Given the description of an element on the screen output the (x, y) to click on. 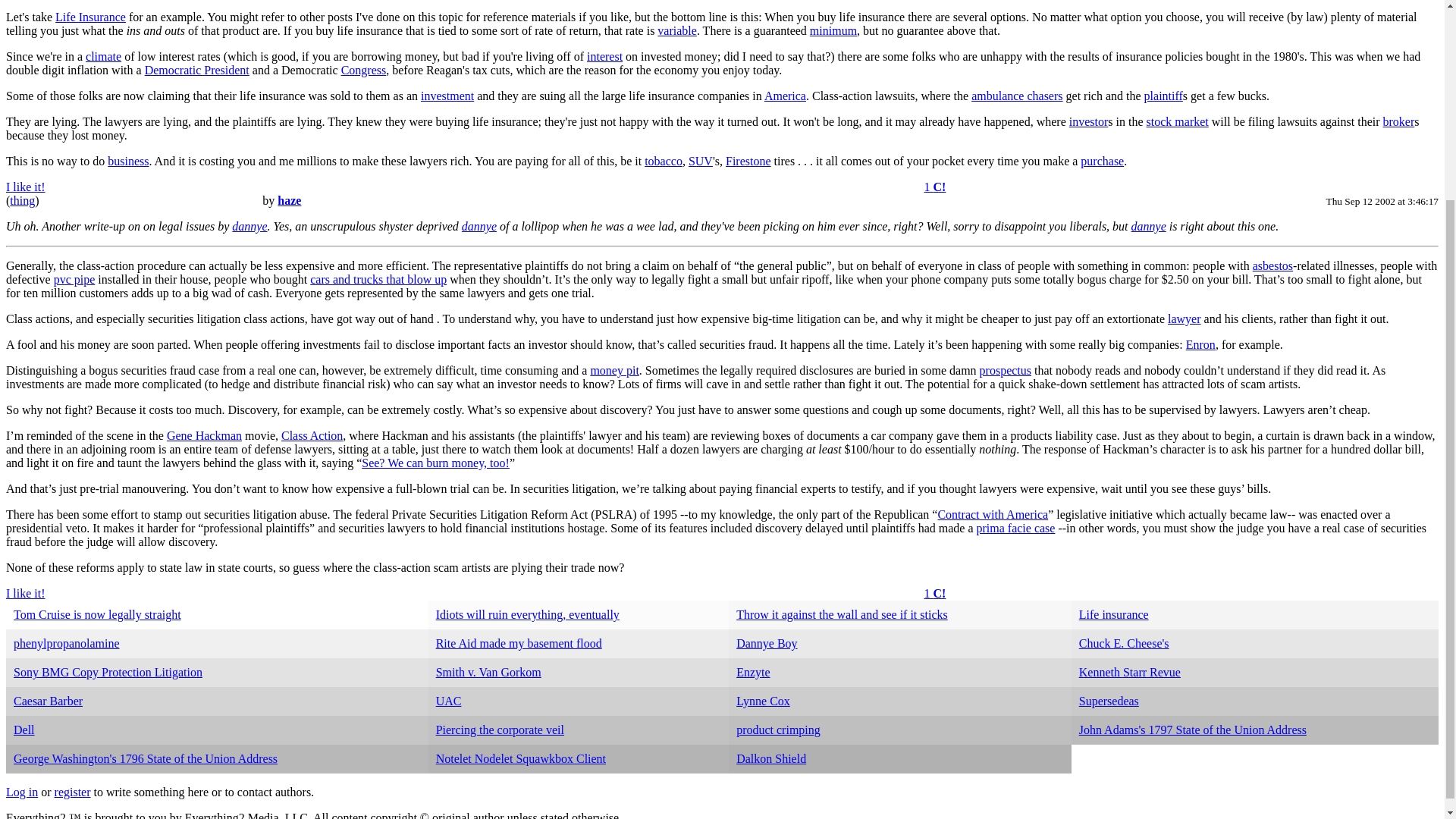
interest (604, 56)
Democratic President (196, 69)
America (785, 95)
variable (677, 30)
Life Insurance (90, 16)
Congress (363, 69)
business (127, 160)
broker (1399, 121)
minimum (833, 30)
tobacco (663, 160)
